Given the description of an element on the screen output the (x, y) to click on. 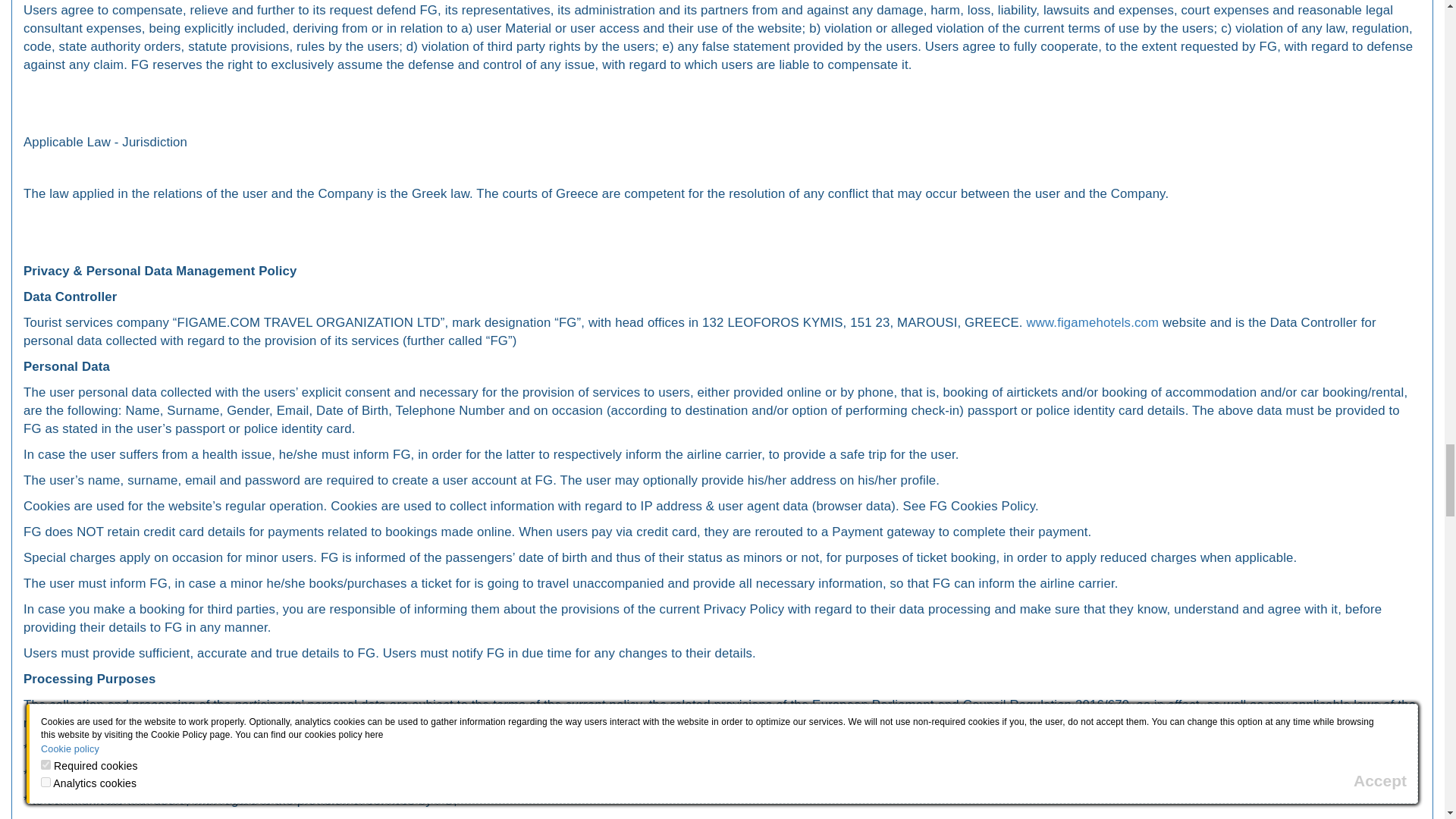
www.figamehotels.com (1092, 322)
